Given the description of an element on the screen output the (x, y) to click on. 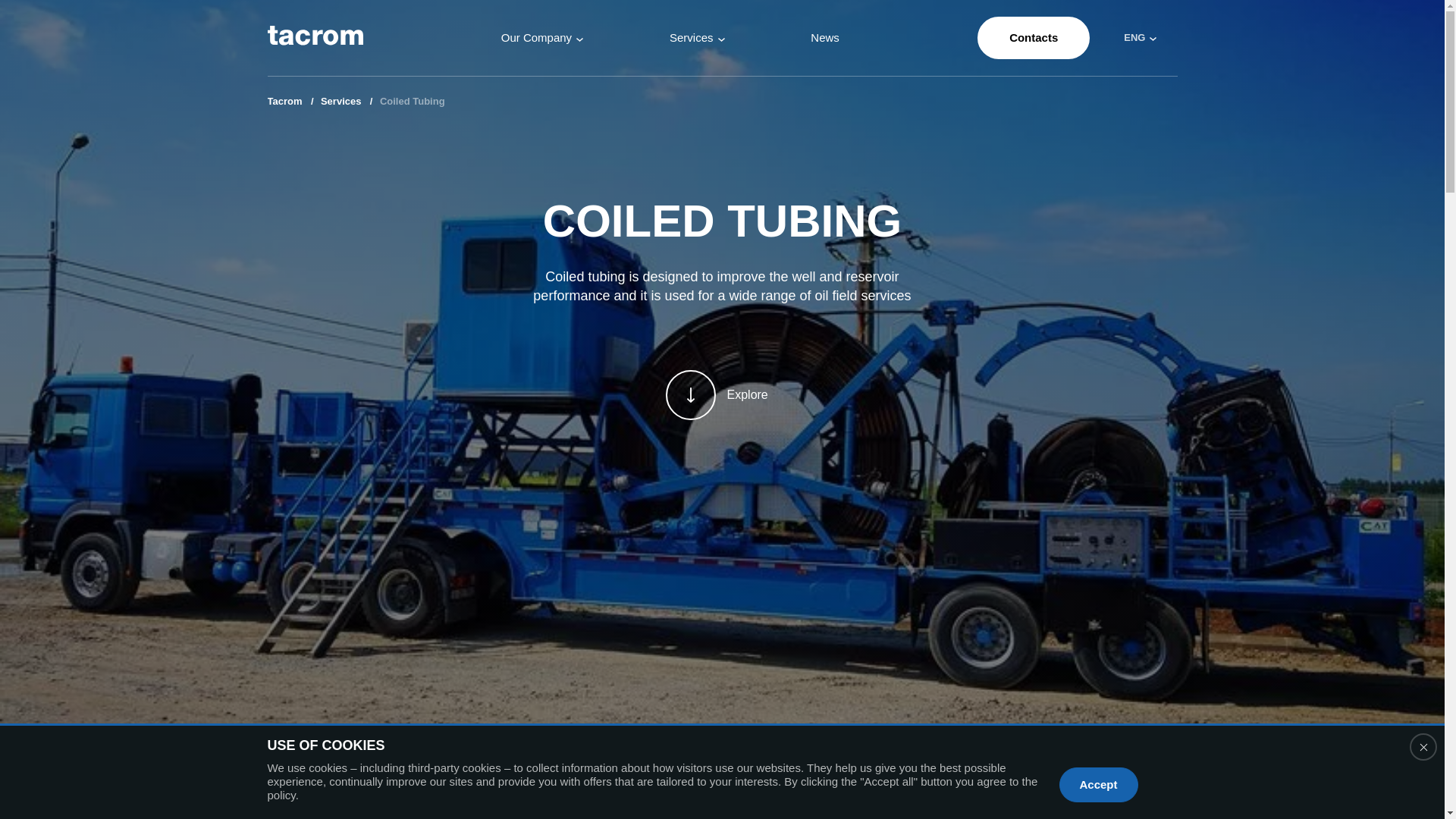
News (825, 38)
Explore (721, 395)
Tacrom (283, 101)
Our Company (541, 38)
Services (340, 101)
Services (697, 38)
ENG (1136, 38)
